Given the description of an element on the screen output the (x, y) to click on. 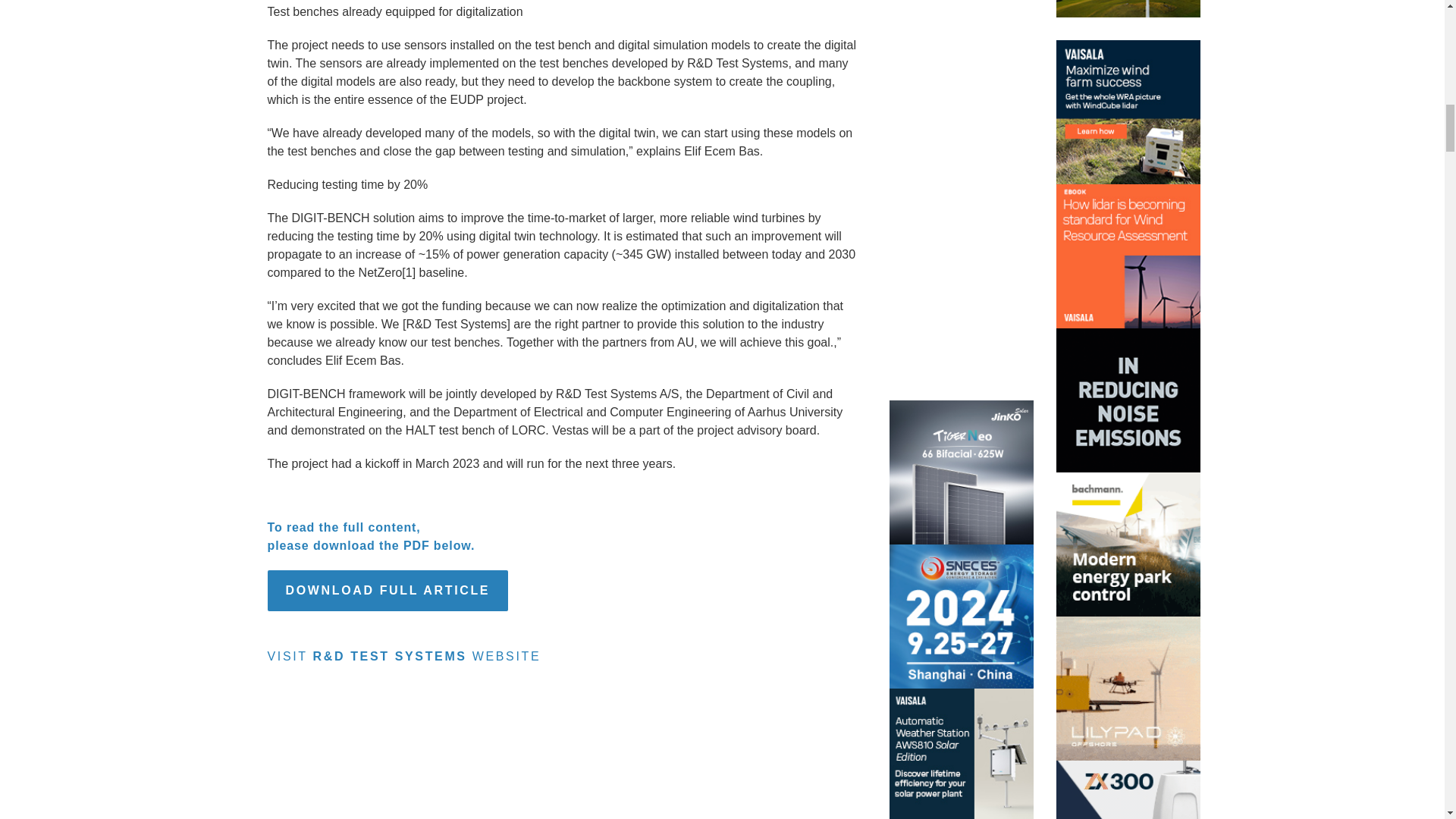
DOWNLOAD FULL ARTICLE (387, 590)
